Given the description of an element on the screen output the (x, y) to click on. 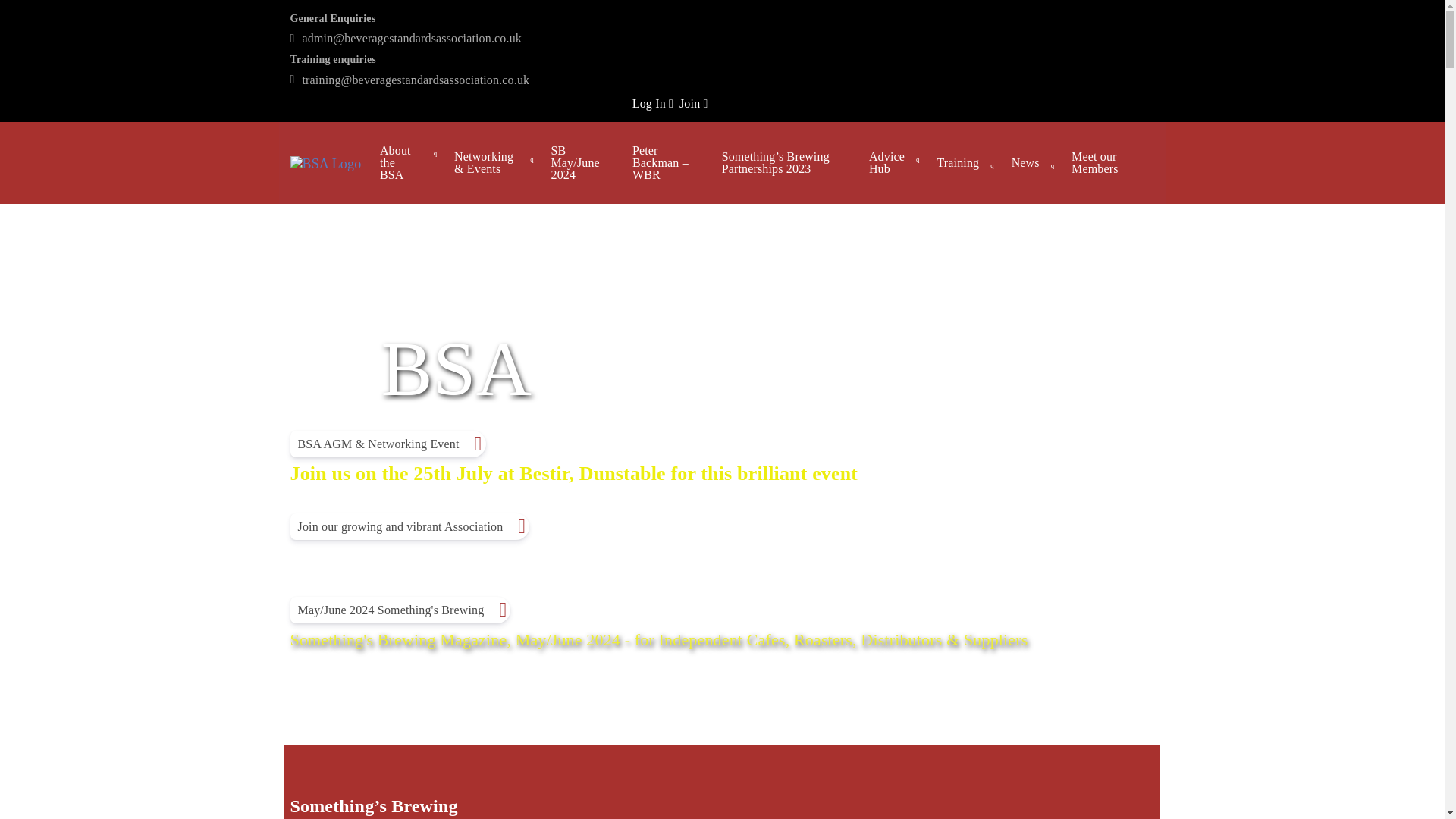
Log In (651, 103)
Read more here (573, 473)
Join (693, 103)
Please click on the links below (658, 639)
About the BSA (409, 163)
Advice Hub (895, 162)
